Given the description of an element on the screen output the (x, y) to click on. 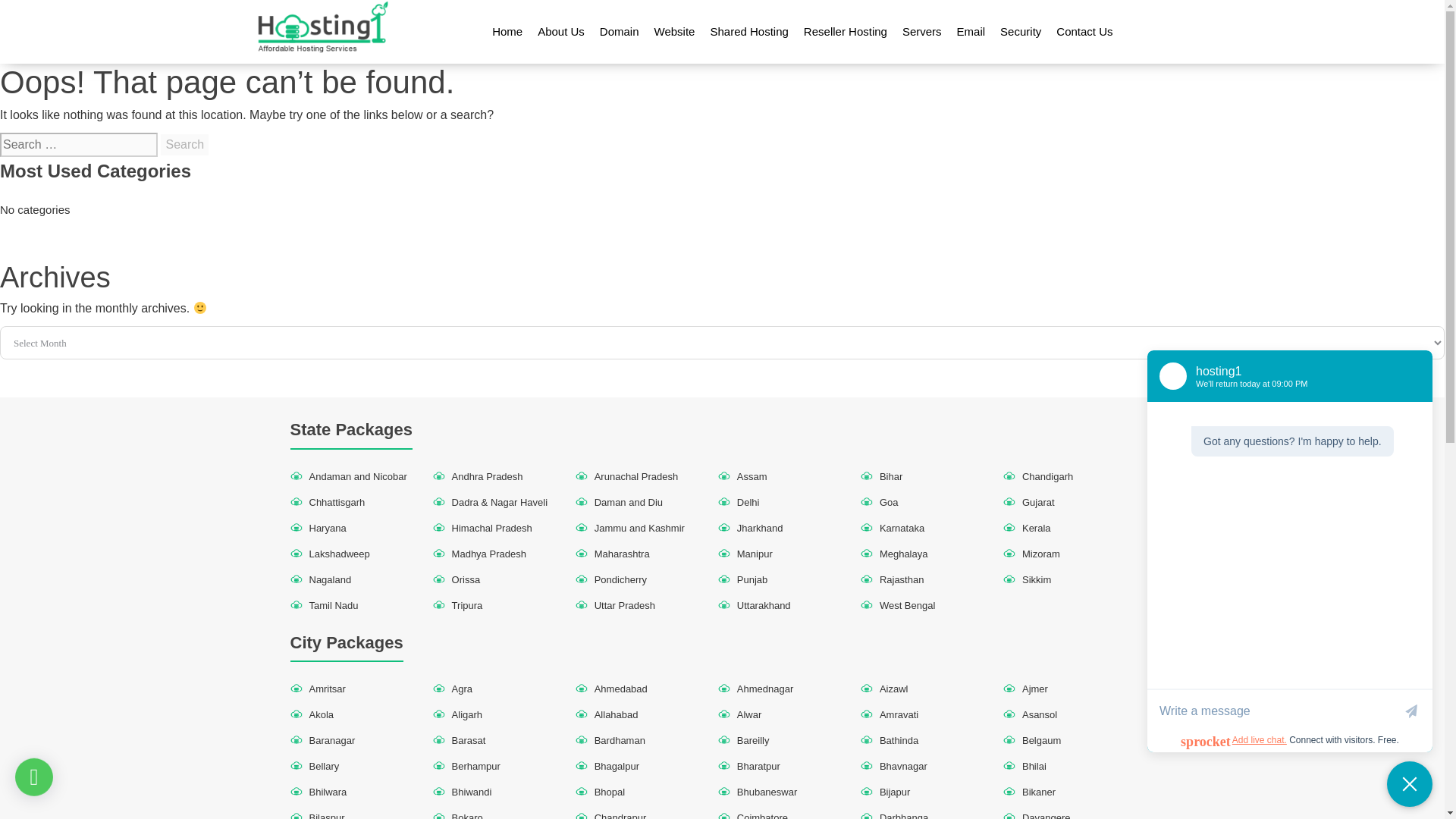
About Us (560, 31)
Search (184, 144)
Reseller Hosting (845, 31)
Shared Hosting (747, 31)
Search (184, 144)
